Given the description of an element on the screen output the (x, y) to click on. 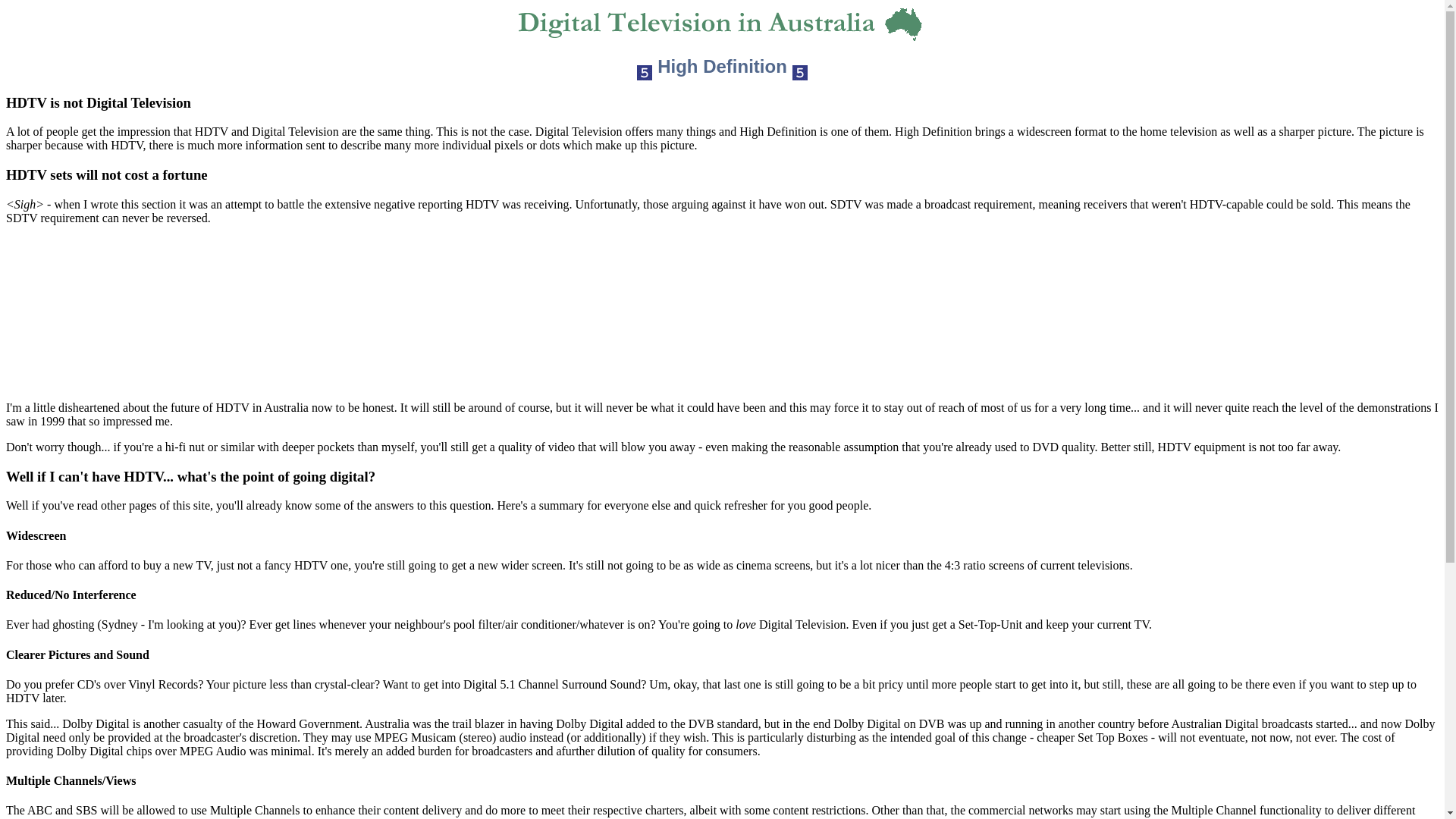
Advertisement Element type: hover (721, 313)
